Given the description of an element on the screen output the (x, y) to click on. 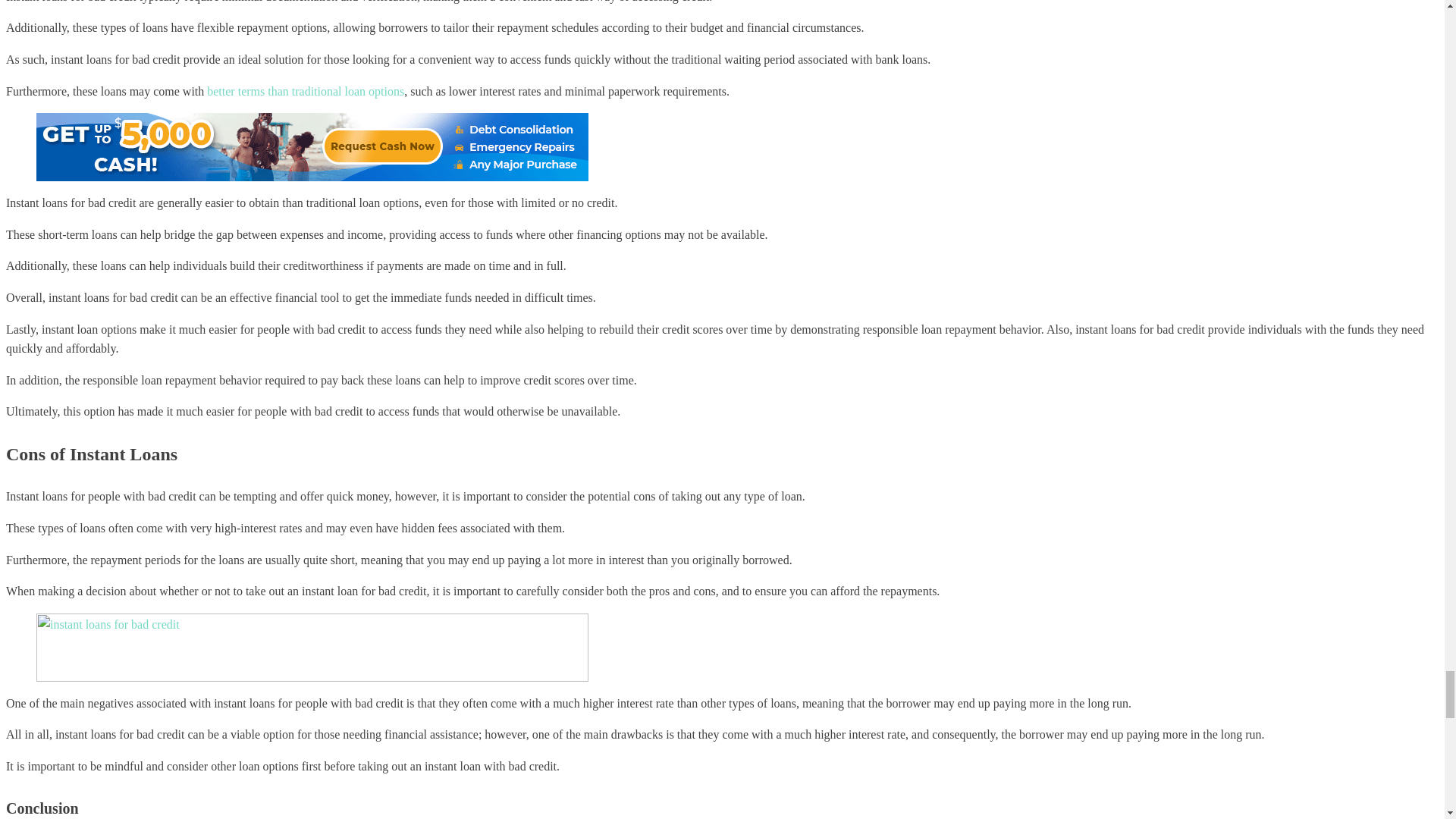
better terms than traditional loan options (305, 91)
